Given the description of an element on the screen output the (x, y) to click on. 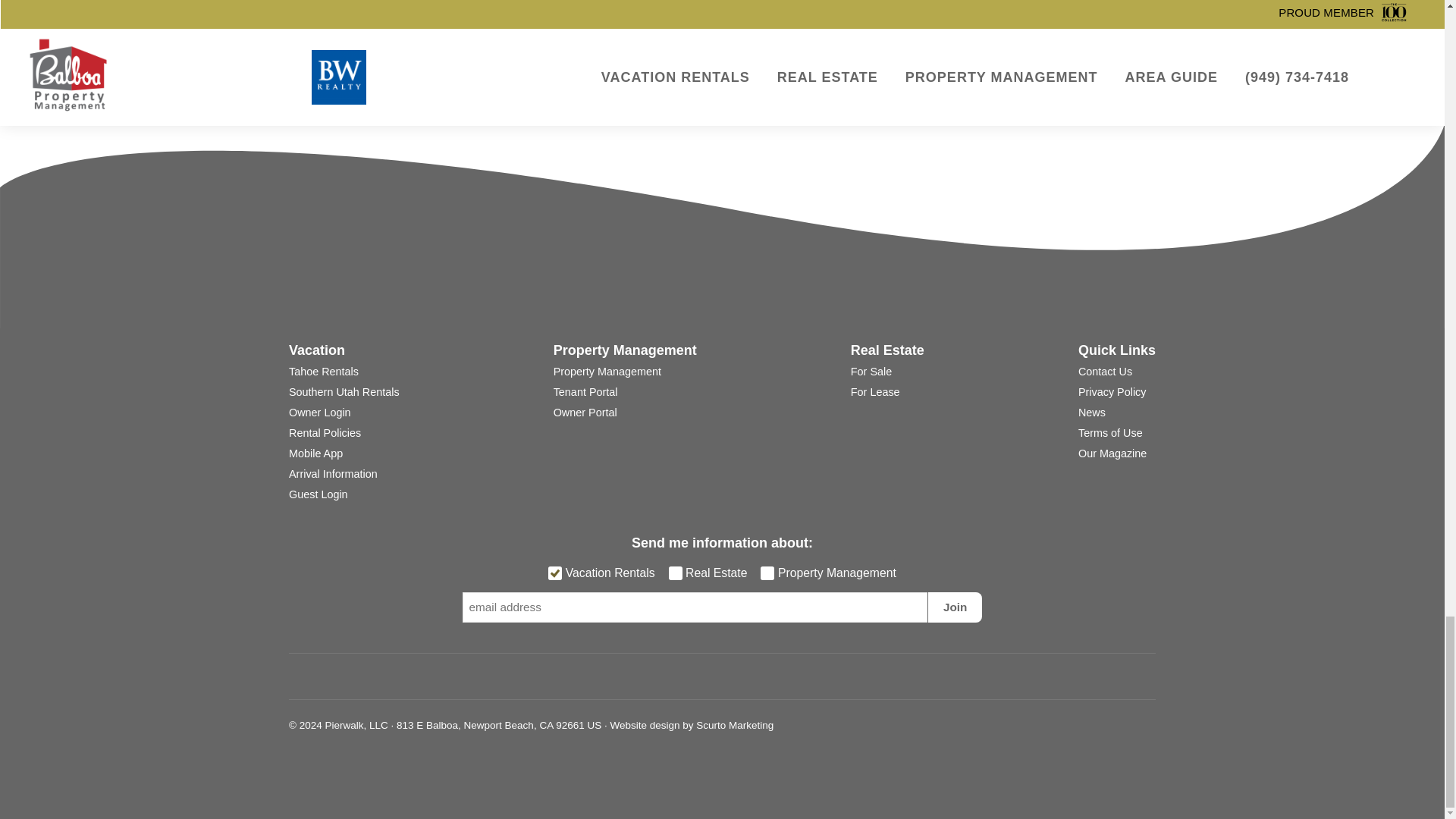
on (555, 572)
on (767, 572)
on (675, 572)
